Given the description of an element on the screen output the (x, y) to click on. 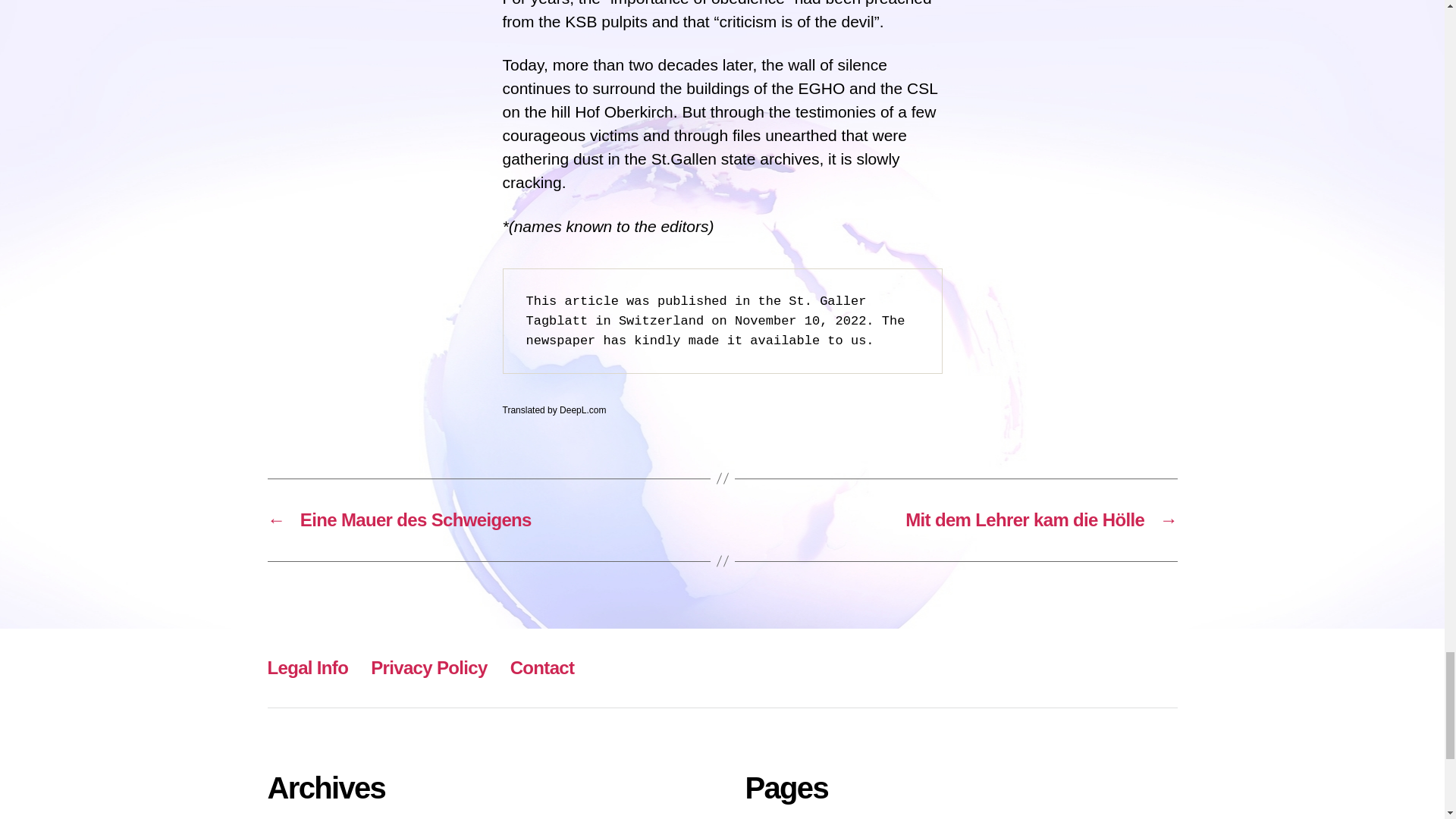
Contact (543, 667)
Privacy Policy (428, 667)
Legal Info (306, 667)
